Given the description of an element on the screen output the (x, y) to click on. 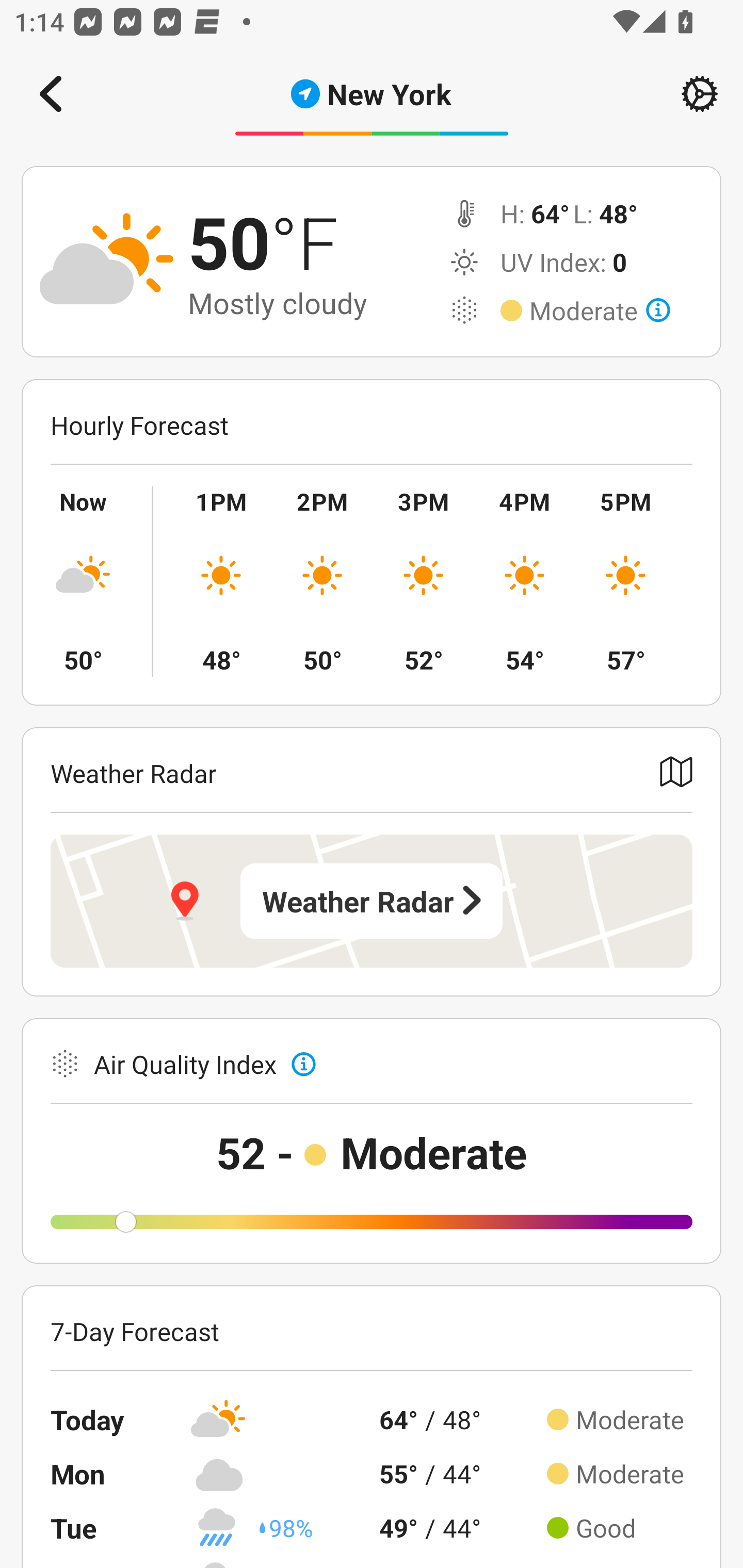
Navigate up (50, 93)
Setting (699, 93)
Moderate (599, 310)
Weather Radar (371, 900)
